Given the description of an element on the screen output the (x, y) to click on. 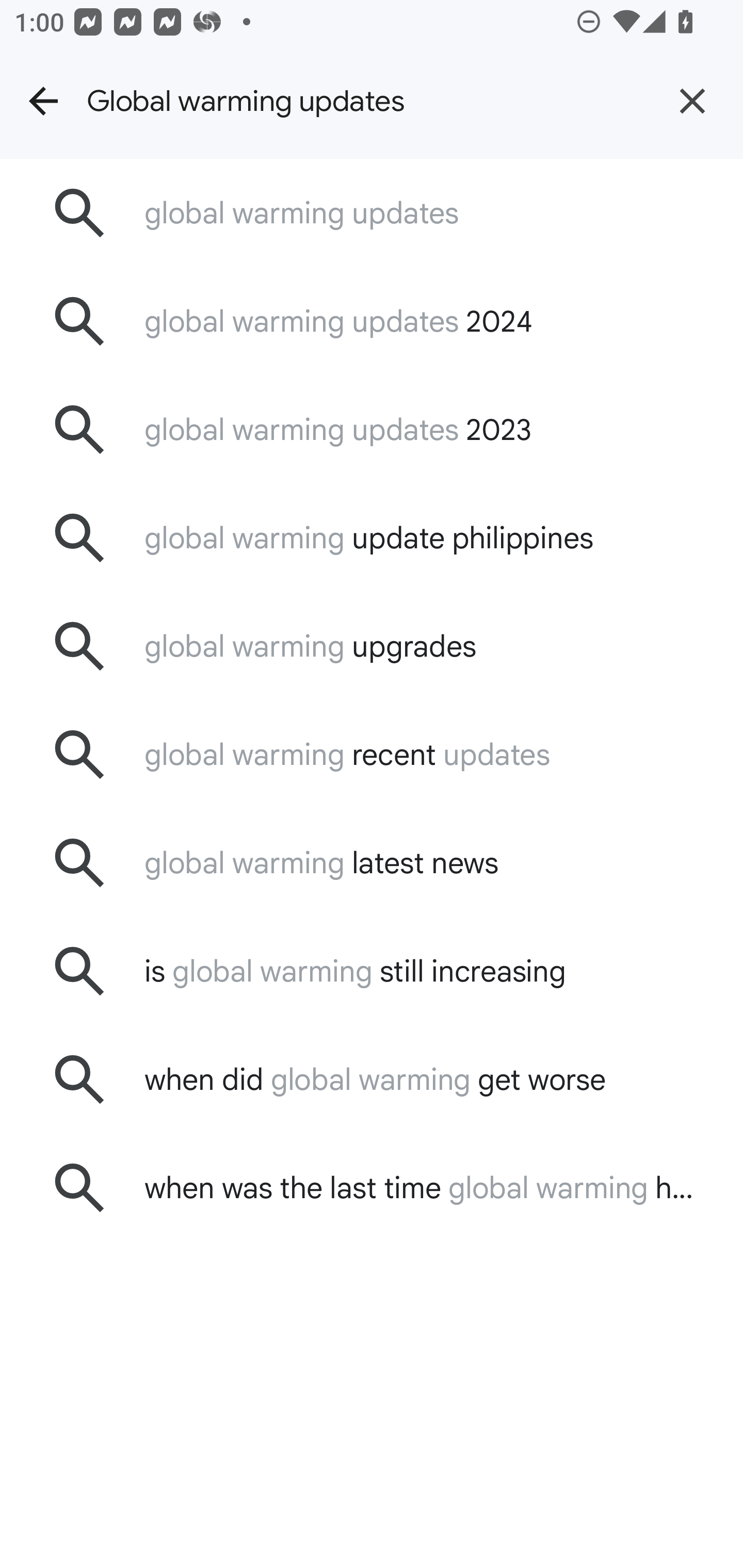
Back (43, 101)
Global warming updates (363, 101)
Clear text (692, 101)
global warming updates (371, 212)
global warming updates 2024 (371, 320)
global warming updates 2023 (371, 429)
global warming update philippines (371, 538)
global warming upgrades (371, 646)
global warming recent updates (371, 754)
global warming latest news (371, 863)
is global warming still increasing (371, 971)
when did global warming get worse (371, 1079)
when was the last time global warming happened (371, 1187)
